Given the description of an element on the screen output the (x, y) to click on. 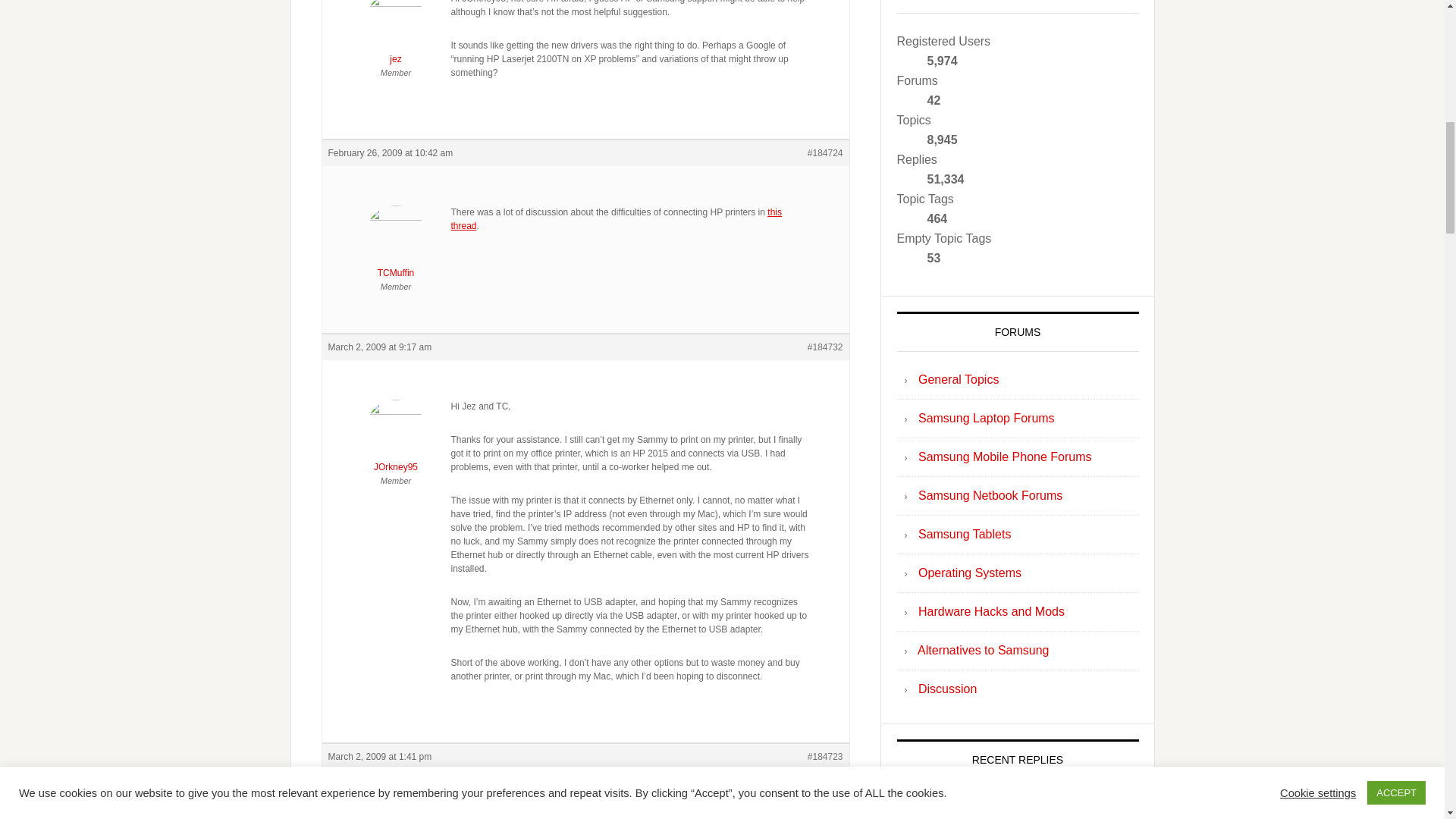
View jez's profile (395, 33)
View TCMuffin's profile (395, 246)
this thread (614, 218)
View JOrkney95's profile (395, 440)
View jez's profile (395, 817)
jez (395, 817)
JOrkney95 (395, 440)
jez (395, 33)
TCMuffin (395, 246)
